Given the description of an element on the screen output the (x, y) to click on. 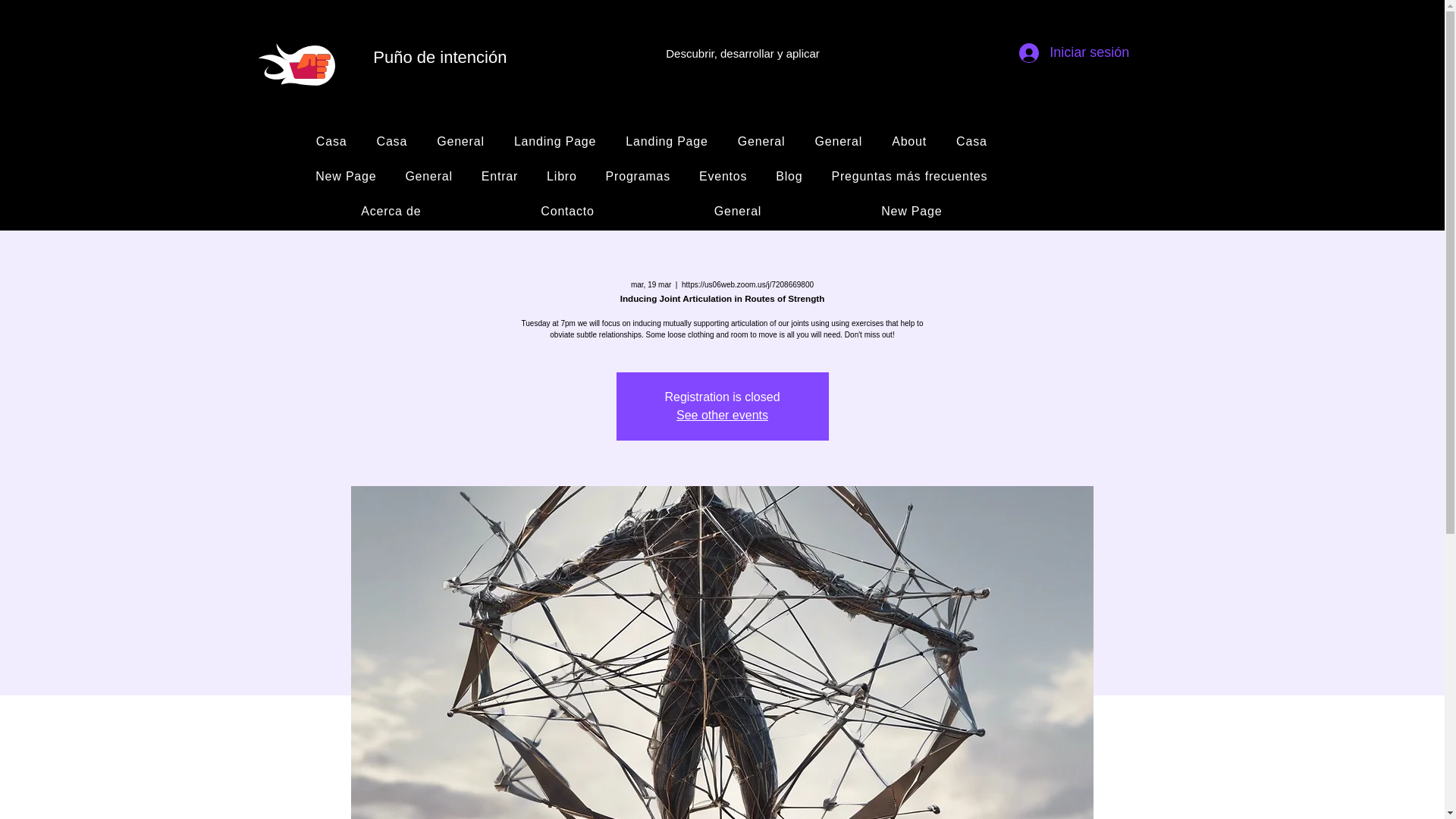
New Page (911, 211)
Eventos (722, 176)
General (428, 176)
Programas (637, 176)
General (839, 141)
General (738, 211)
Landing Page (666, 141)
Contacto (566, 211)
About (909, 141)
See other events (722, 414)
General (760, 141)
Casa (331, 141)
Entrar (499, 176)
New Page (345, 176)
Libro (561, 176)
